Given the description of an element on the screen output the (x, y) to click on. 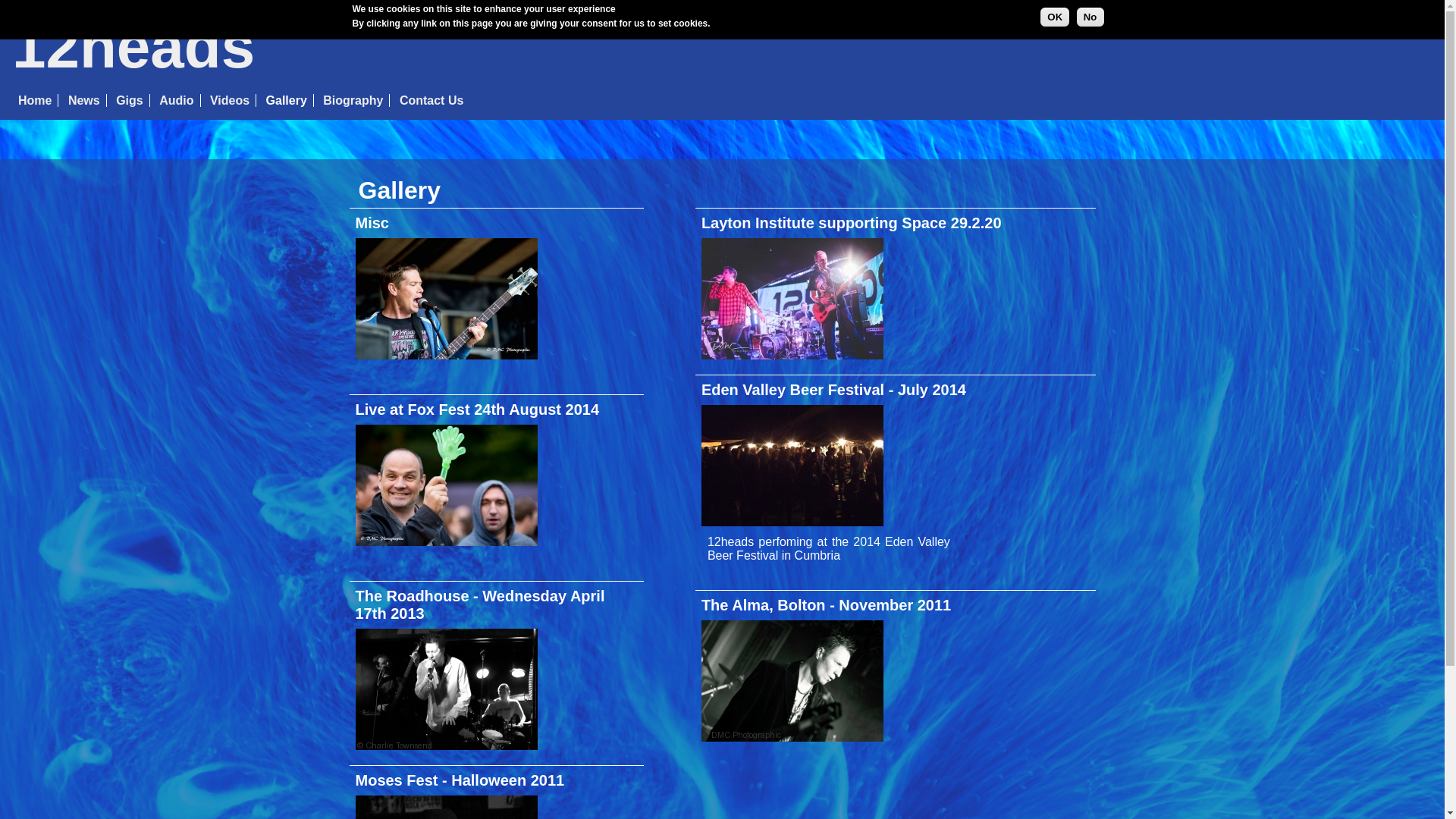
Misc Element type: text (371, 222)
Gallery Element type: text (286, 100)
News Element type: text (84, 100)
The Roadhouse - Wednesday April 17th 2013 Element type: text (479, 604)
Biography Element type: text (352, 100)
The Alma, Bolton - November 2011 Element type: text (825, 604)
Live at Fox Fest 24th August 2014 Element type: text (476, 409)
Audio Element type: text (176, 100)
OK Element type: text (1054, 16)
Layton Institute supporting Space 29.2.20 Element type: text (851, 222)
Home Element type: text (34, 100)
Gigs Element type: text (129, 100)
No Element type: text (1090, 16)
Eden Valley Beer Festival - July 2014 Element type: text (833, 389)
Videos Element type: text (229, 100)
Moses Fest - Halloween 2011 Element type: text (459, 779)
Contact Us Element type: text (431, 100)
